Given the description of an element on the screen output the (x, y) to click on. 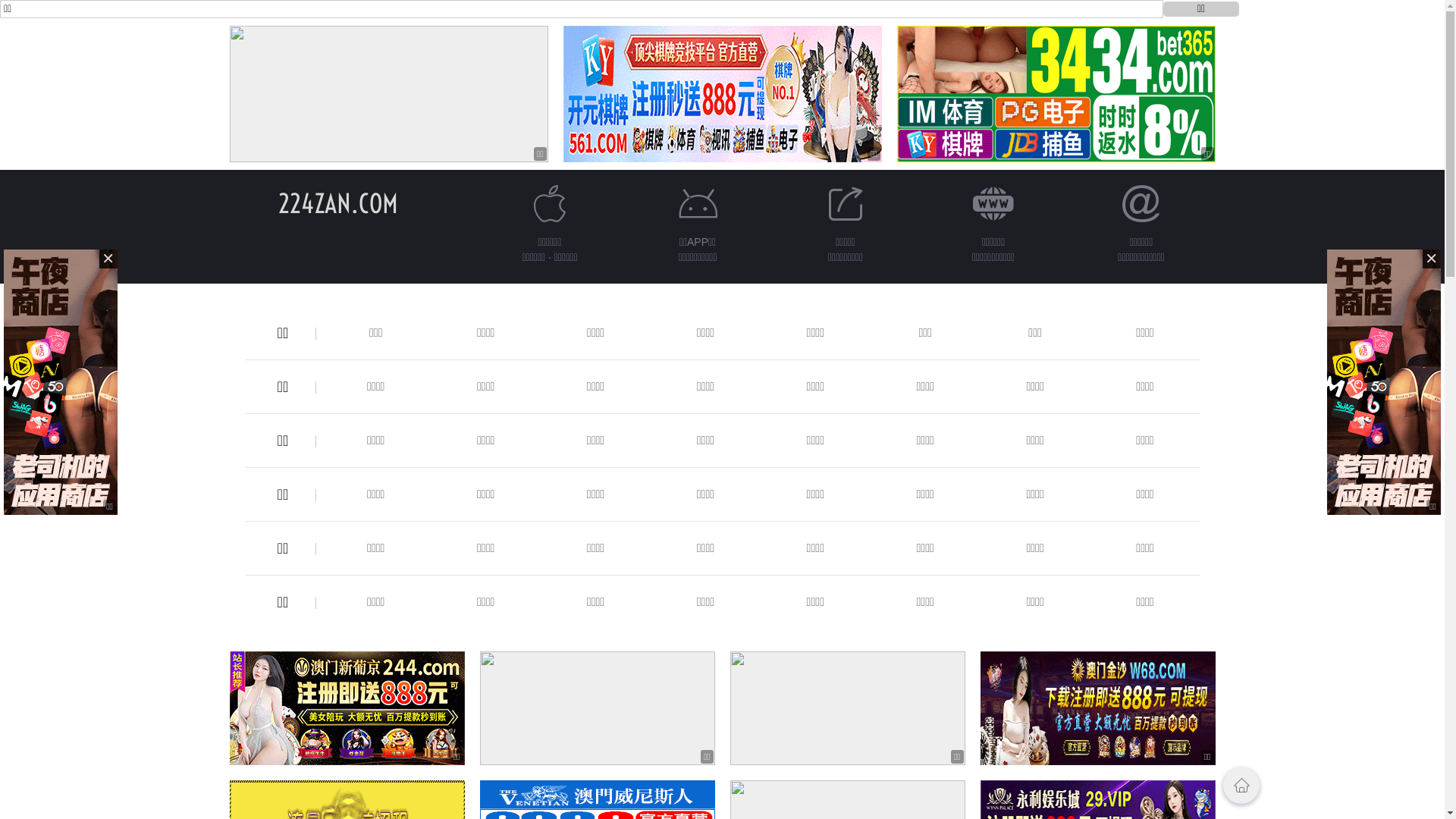
224ZAN.COM Element type: text (337, 203)
